Given the description of an element on the screen output the (x, y) to click on. 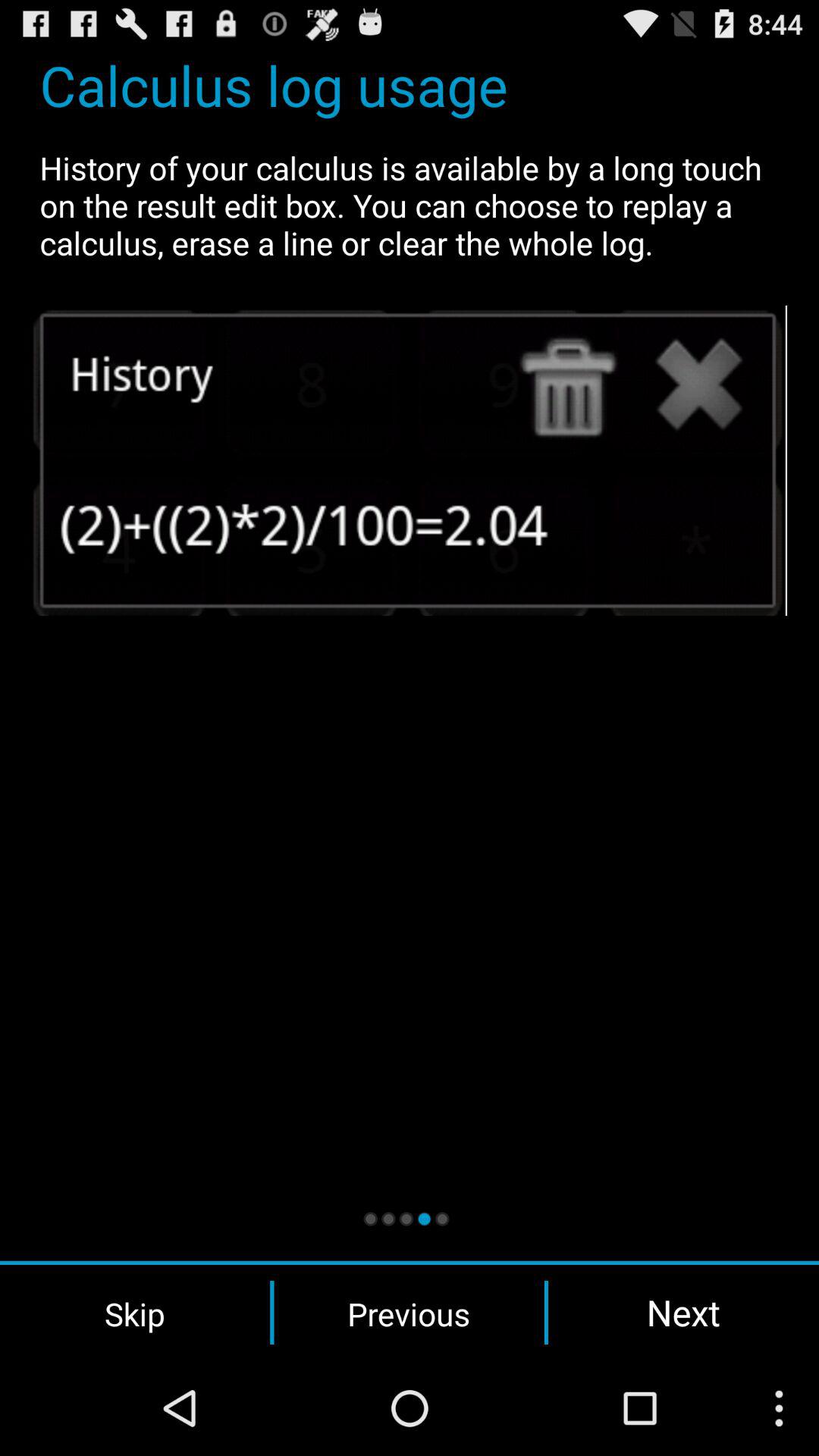
scroll until the previous icon (409, 1313)
